Given the description of an element on the screen output the (x, y) to click on. 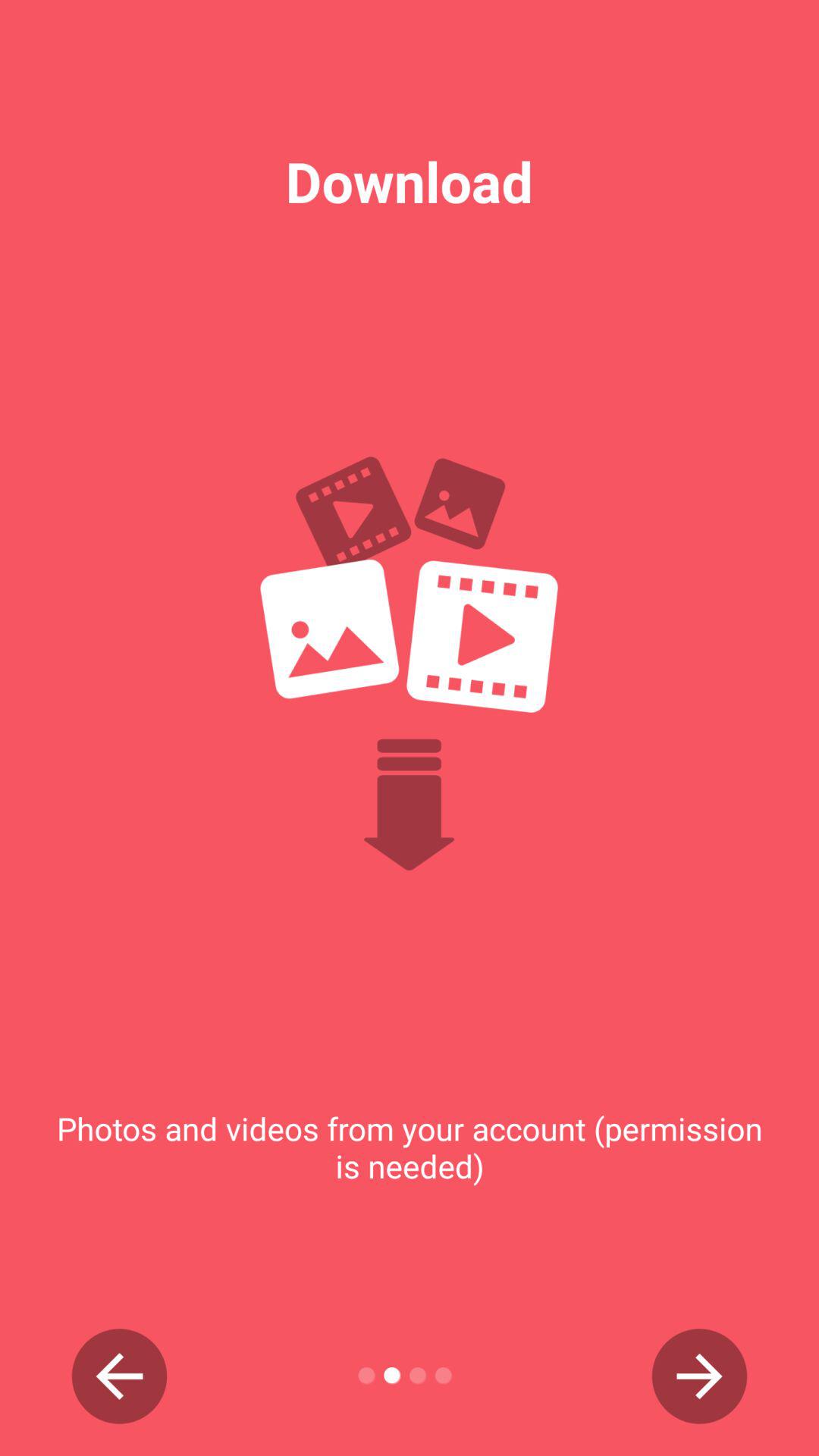
go next page (699, 1376)
